Given the description of an element on the screen output the (x, y) to click on. 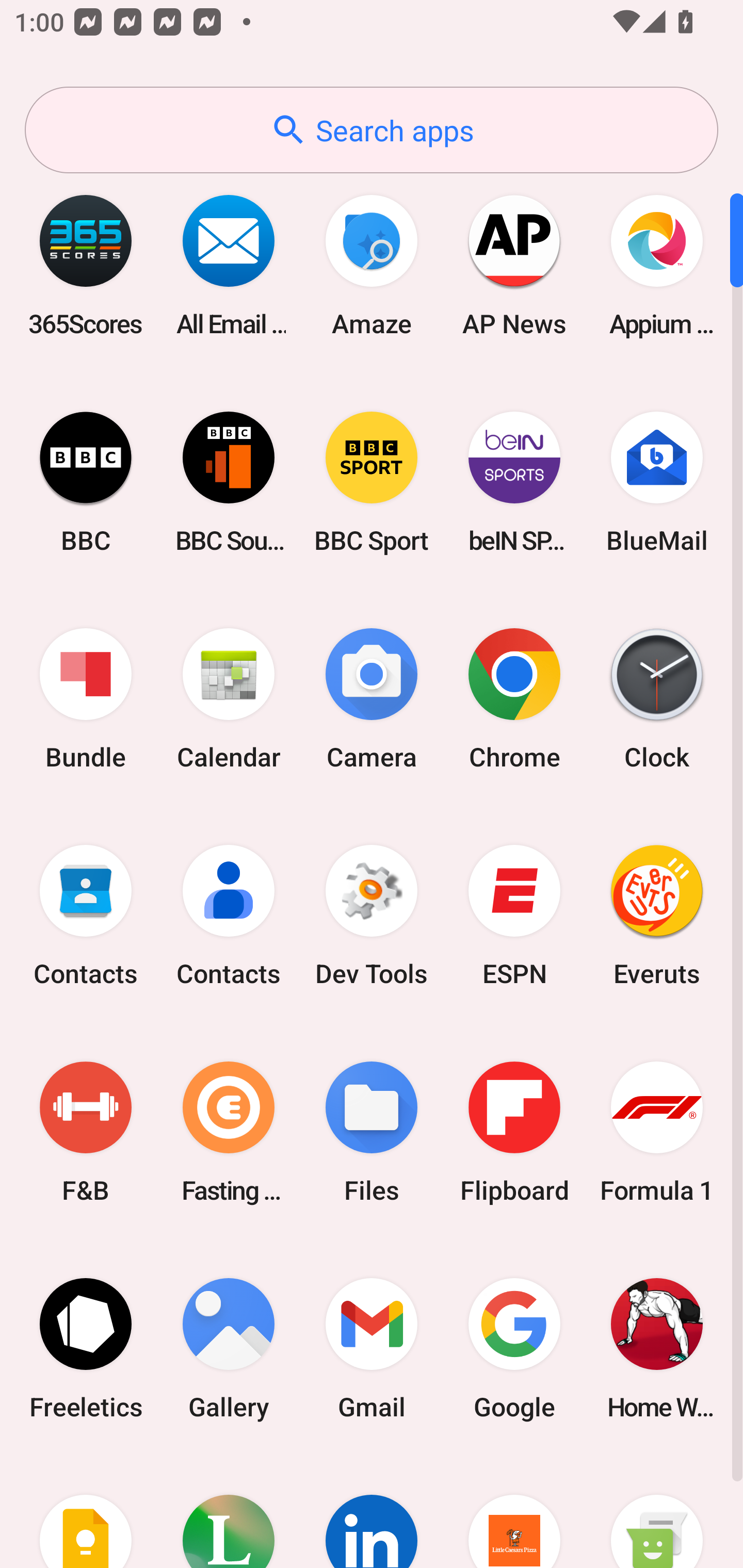
  Search apps (371, 130)
365Scores (85, 264)
All Email Connect (228, 264)
Amaze (371, 264)
AP News (514, 264)
Appium Settings (656, 264)
BBC (85, 482)
BBC Sounds (228, 482)
BBC Sport (371, 482)
beIN SPORTS (514, 482)
BlueMail (656, 482)
Bundle (85, 699)
Calendar (228, 699)
Camera (371, 699)
Chrome (514, 699)
Clock (656, 699)
Contacts (85, 915)
Contacts (228, 915)
Dev Tools (371, 915)
ESPN (514, 915)
Everuts (656, 915)
F&B (85, 1131)
Fasting Coach (228, 1131)
Files (371, 1131)
Flipboard (514, 1131)
Formula 1 (656, 1131)
Freeletics (85, 1348)
Gallery (228, 1348)
Gmail (371, 1348)
Google (514, 1348)
Home Workout (656, 1348)
Keep Notes (85, 1512)
Lifesum (228, 1512)
LinkedIn (371, 1512)
Little Caesars Pizza (514, 1512)
Messaging (656, 1512)
